Given the description of an element on the screen output the (x, y) to click on. 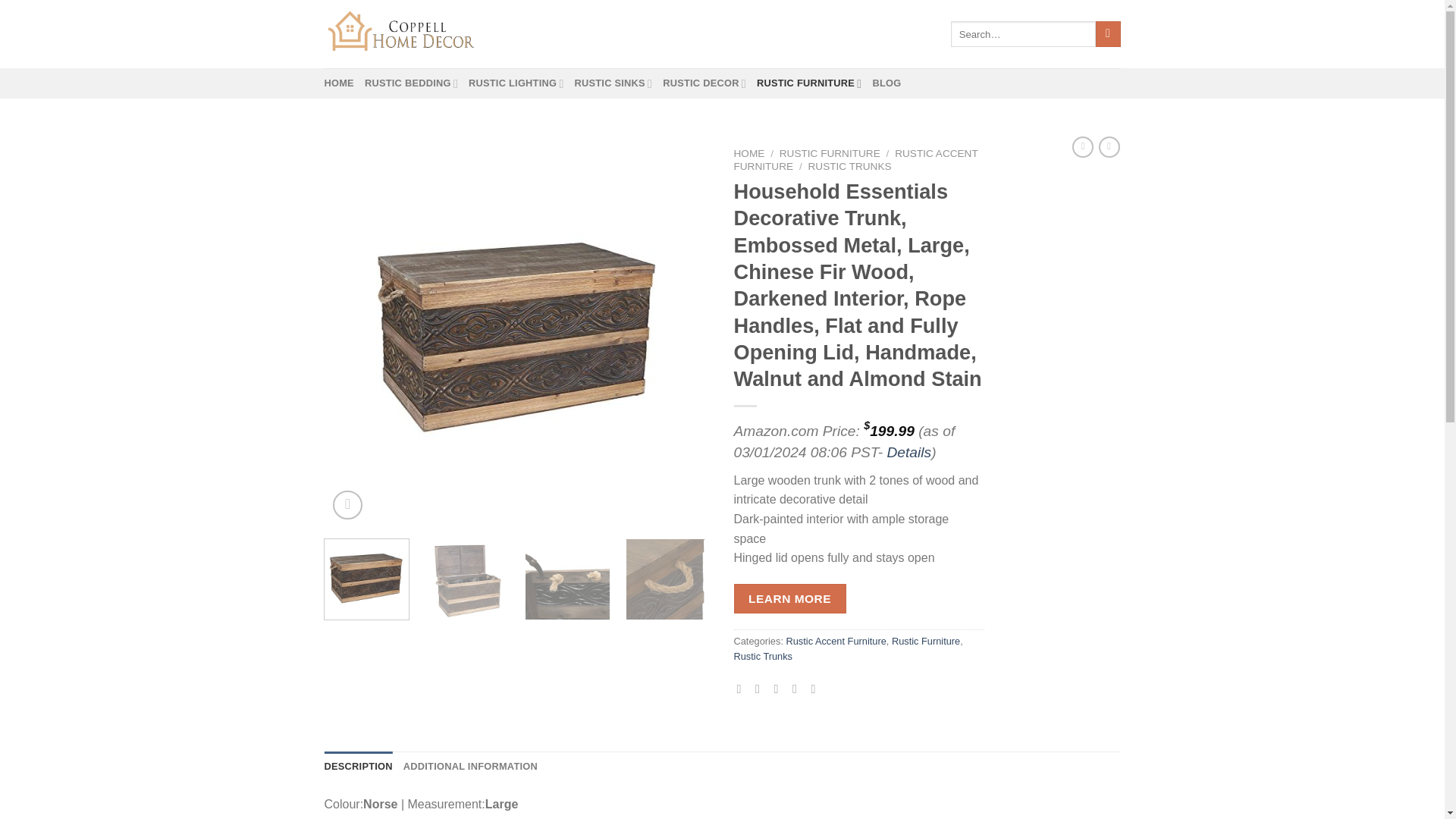
HOME (338, 82)
RUSTIC LIGHTING (515, 82)
Search (1108, 33)
Share on Facebook (742, 688)
Email to a Friend (780, 688)
Share on Twitter (761, 688)
RUSTIC BEDDING (411, 82)
Zoom (347, 505)
RUSTIC DECOR (703, 82)
Share on LinkedIn (816, 688)
Pin on Pinterest (798, 688)
Coppell Home Decor - Just another WordPress site (400, 33)
RUSTIC SINKS (612, 82)
